Given the description of an element on the screen output the (x, y) to click on. 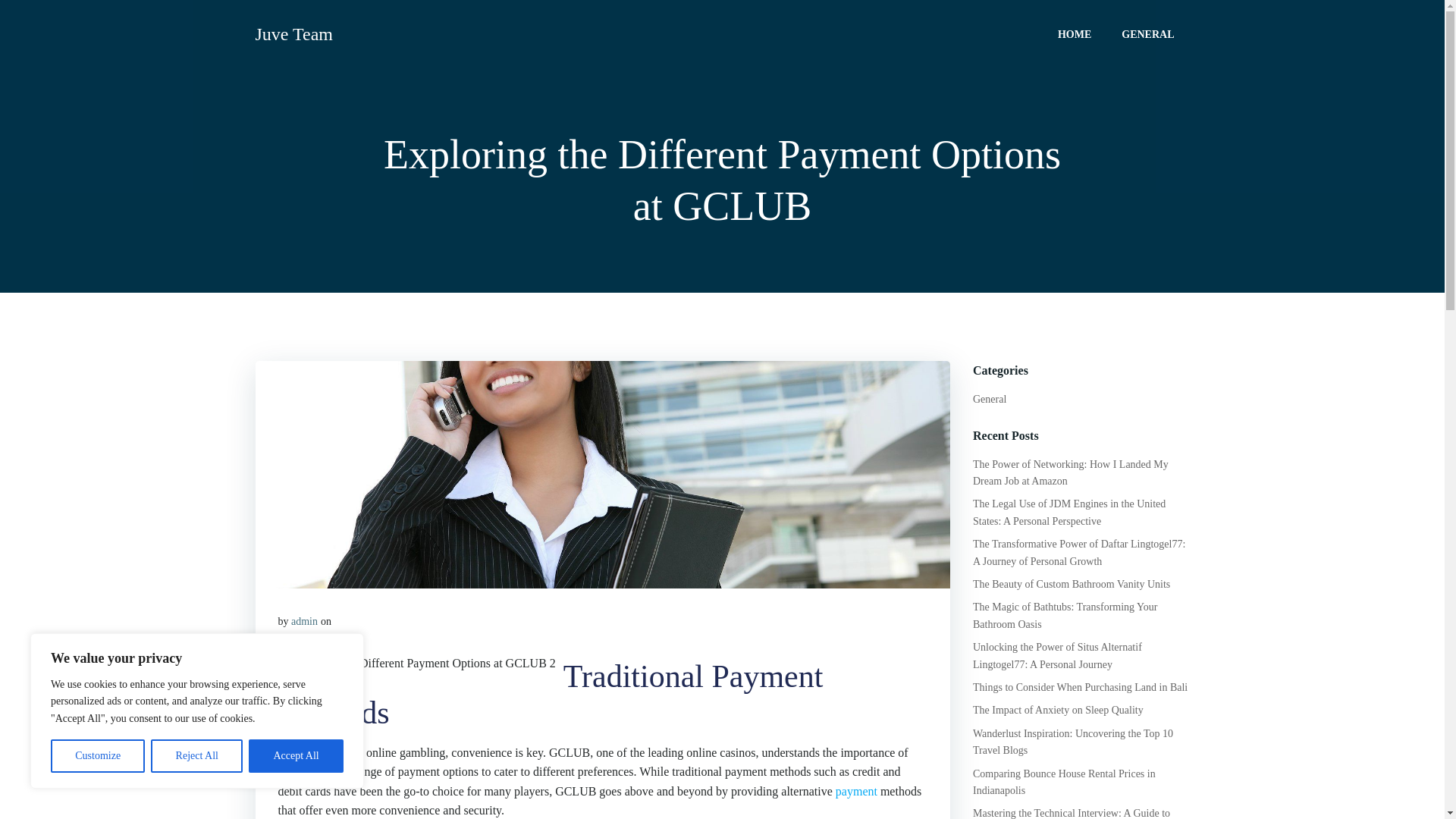
Accept All (295, 756)
payment (856, 790)
HOME (1074, 33)
GENERAL (1147, 33)
Juve Team (293, 33)
Reject All (197, 756)
General (989, 398)
The Power of Networking: How I Landed My Dream Job at Amazon (1070, 472)
